Given the description of an element on the screen output the (x, y) to click on. 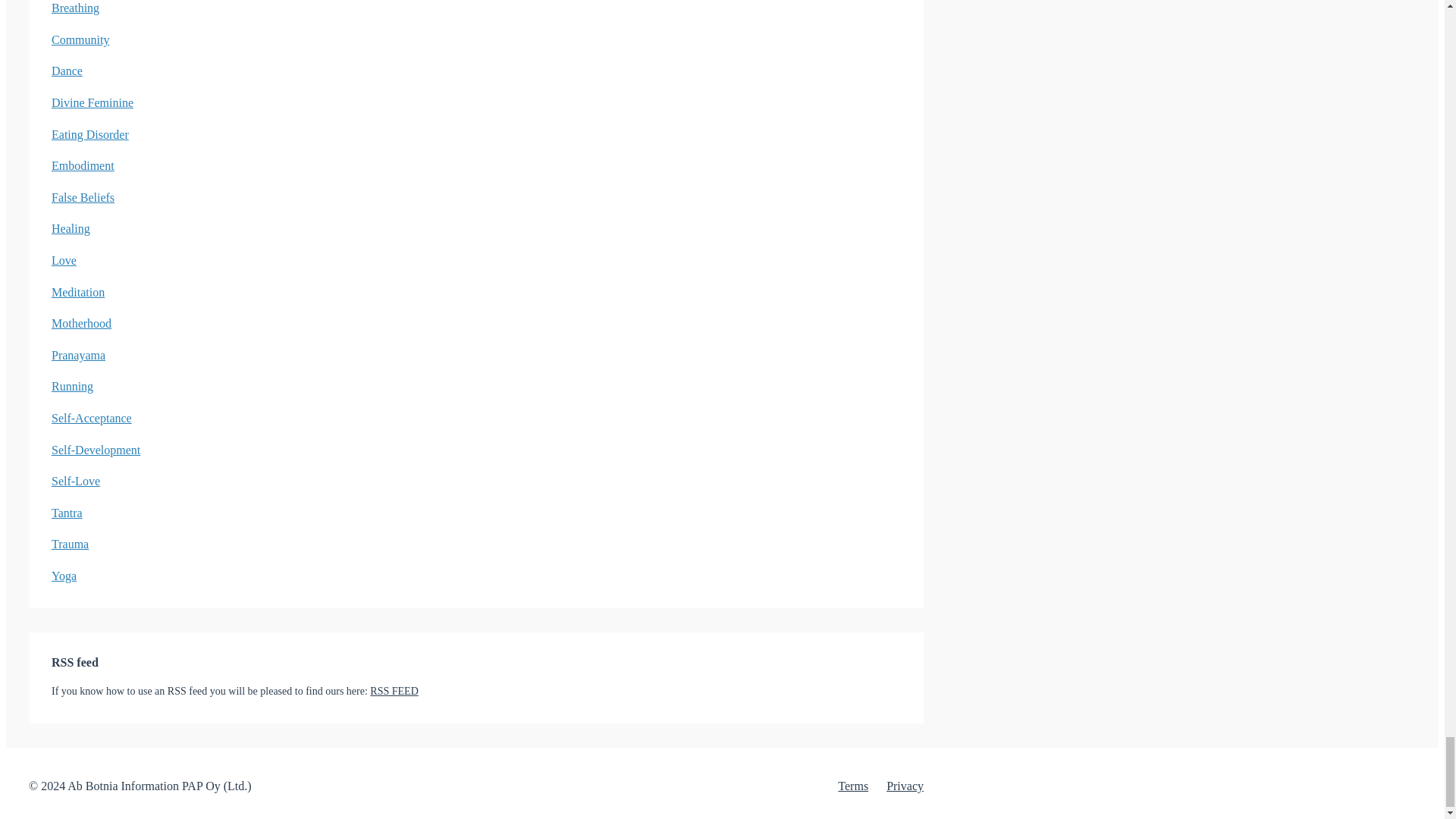
RSS feed (393, 690)
